Given the description of an element on the screen output the (x, y) to click on. 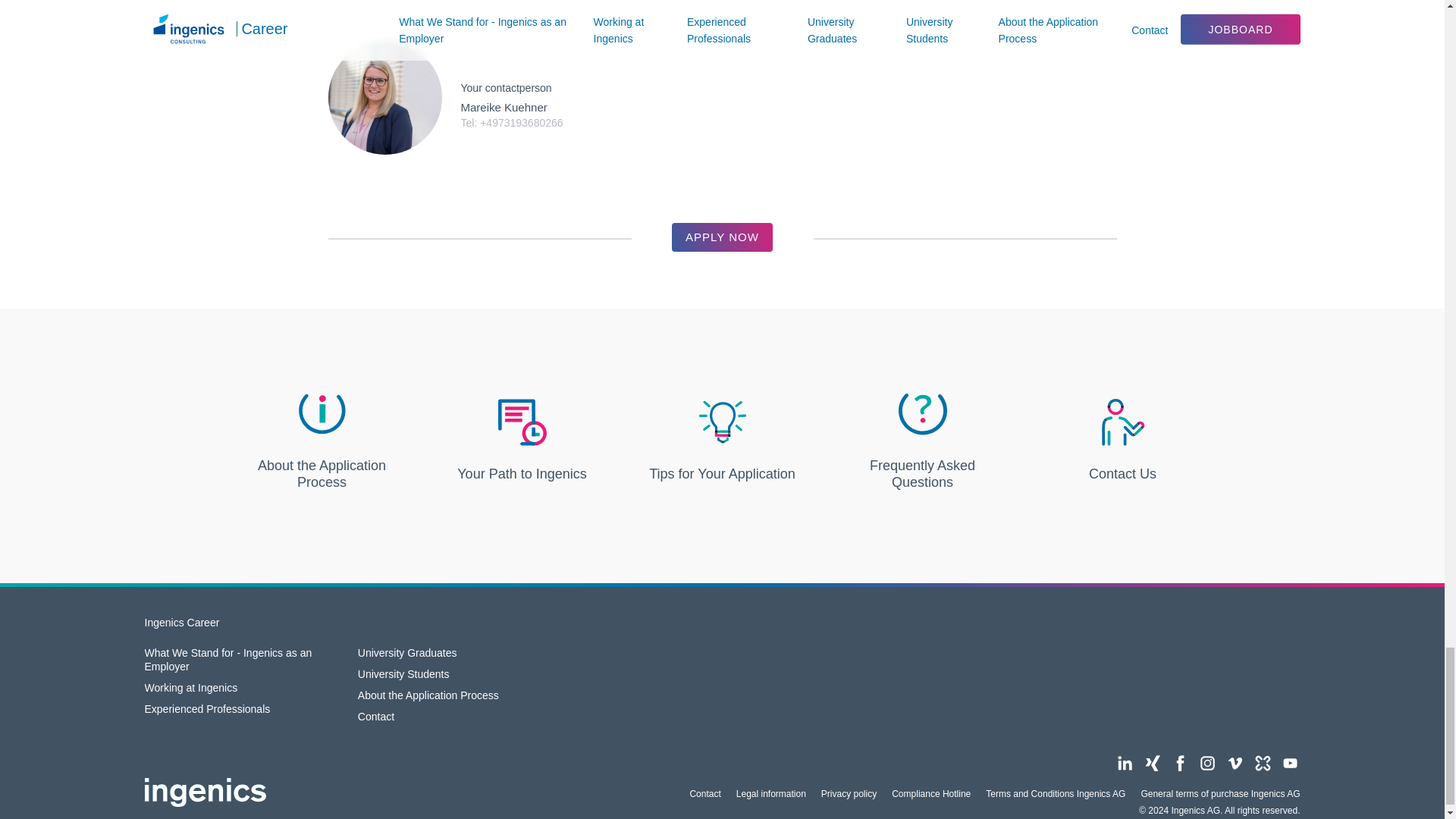
APPLY NOW (722, 236)
